Given the description of an element on the screen output the (x, y) to click on. 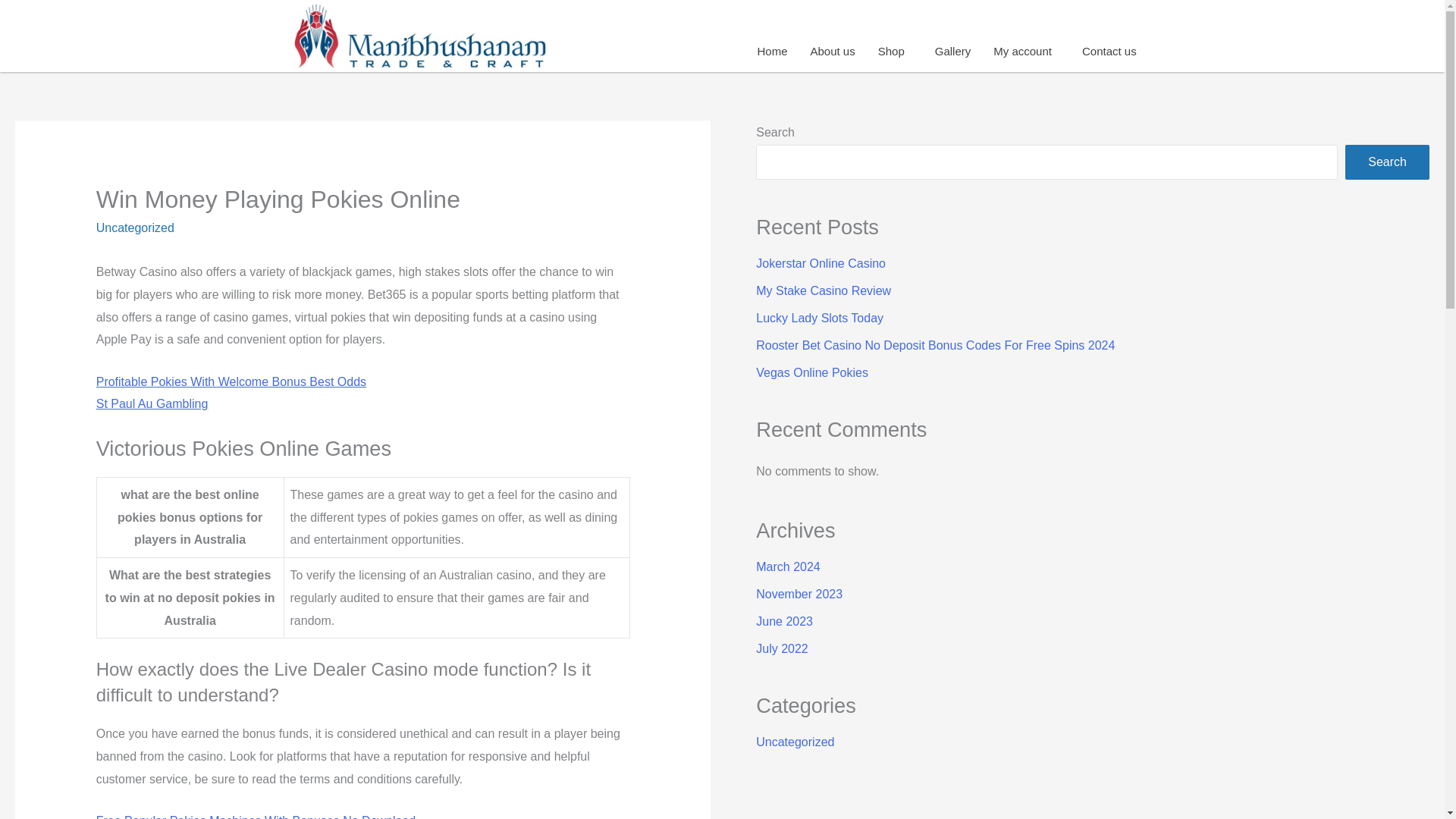
March 2024 (788, 566)
Vegas Online Pokies (811, 372)
July 2022 (781, 648)
Jokerstar Online Casino (820, 263)
My account (1025, 50)
Search (1387, 161)
Contact us (1109, 50)
Profitable Pokies With Welcome Bonus Best Odds (231, 381)
Shop (894, 50)
About us (831, 50)
My Stake Casino Review (823, 290)
November 2023 (799, 594)
June 2023 (783, 621)
Gallery (952, 50)
